Given the description of an element on the screen output the (x, y) to click on. 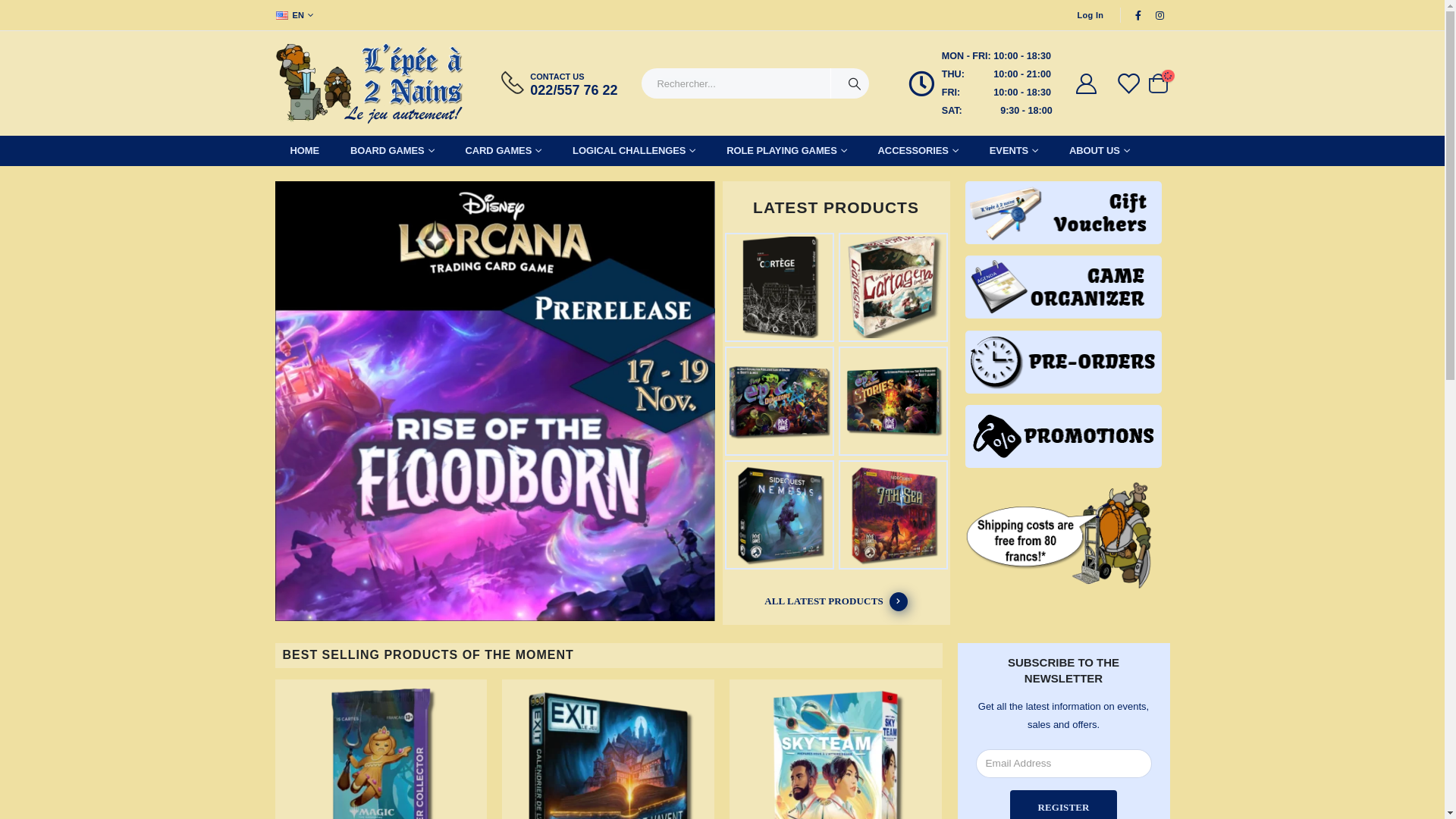
Log In Element type: text (1090, 15)
Facebook Element type: hover (1138, 15)
Lorcana Pre-release Element type: hover (494, 402)
Instagram Element type: hover (1160, 15)
ACCESSORIES Element type: text (917, 150)
Search Element type: hover (854, 83)
Wishlist Element type: hover (1127, 83)
LOGICAL CHALLENGES Element type: text (633, 150)
ABOUT US Element type: text (1099, 150)
frais-de-ports_en Element type: hover (1063, 535)
EN Element type: text (295, 15)
agenda_ludique_en Element type: hover (1063, 286)
Promotions Element type: hover (1063, 435)
EVENTS Element type: text (1013, 150)
CARD GAMES Element type: text (503, 150)
ROLE PLAYING GAMES Element type: text (786, 150)
My Account Element type: hover (1086, 83)
BOARD GAMES Element type: text (392, 150)
ALL LATEST PRODUCTS Element type: text (836, 601)
bons_cadeaux_en Element type: hover (1063, 212)
precommandes-icon_en Element type: hover (1063, 361)
HOME Element type: text (304, 150)
